Given the description of an element on the screen output the (x, y) to click on. 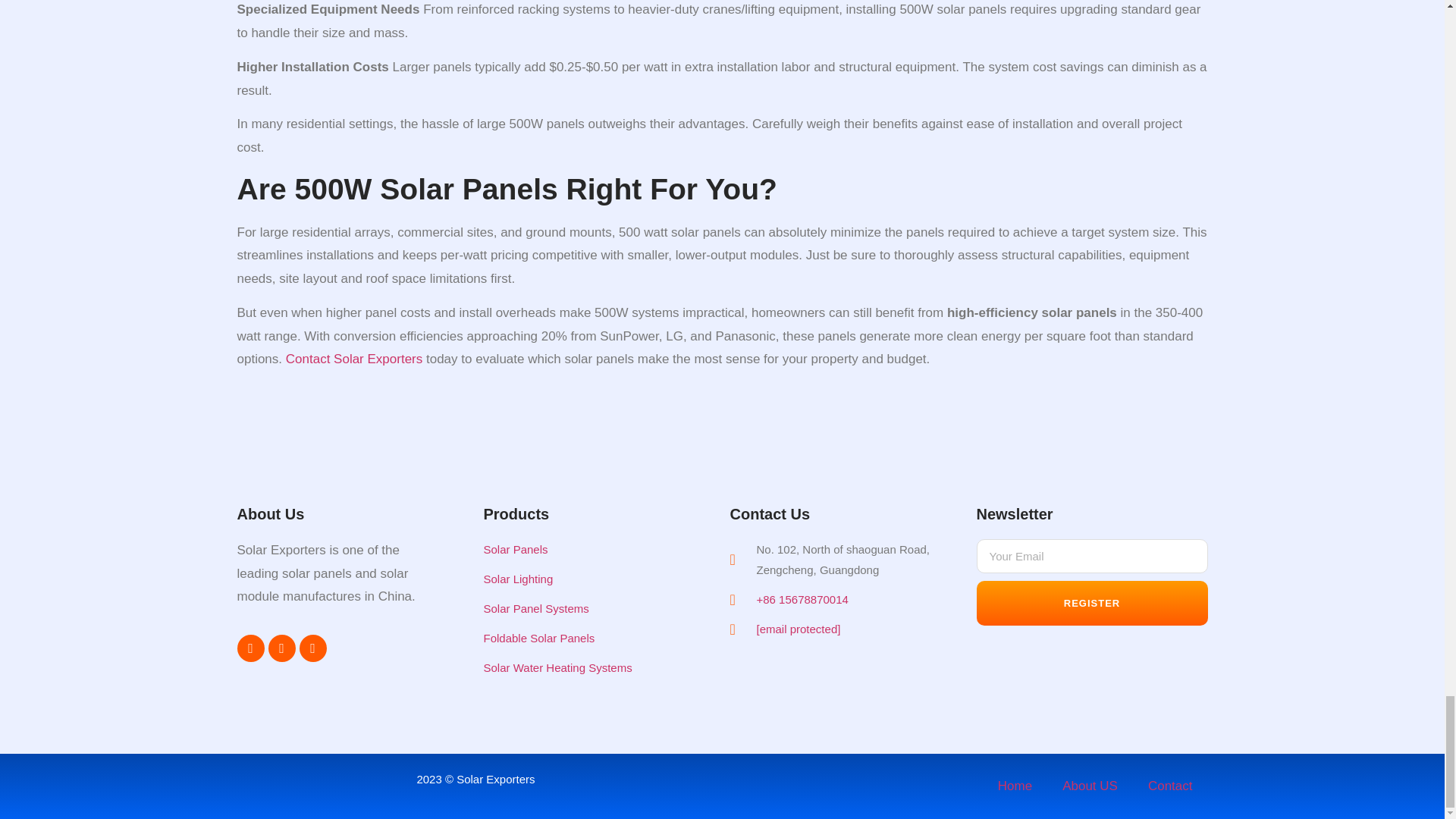
Contact (307, 359)
Solar Panels (583, 548)
Solar Exporters (377, 359)
Contact (307, 359)
